Given the description of an element on the screen output the (x, y) to click on. 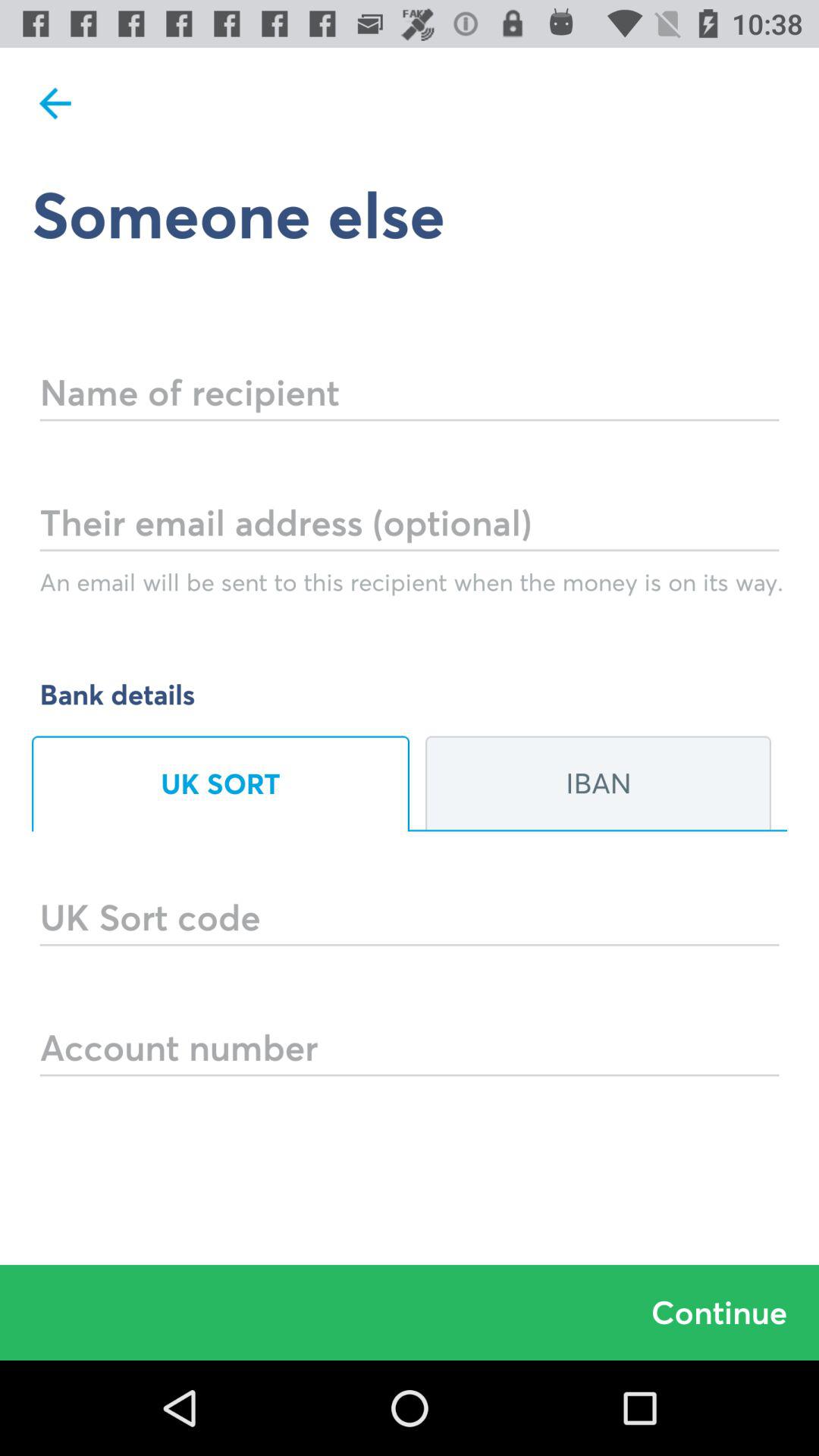
turn off icon below the bank details item (220, 783)
